Given the description of an element on the screen output the (x, y) to click on. 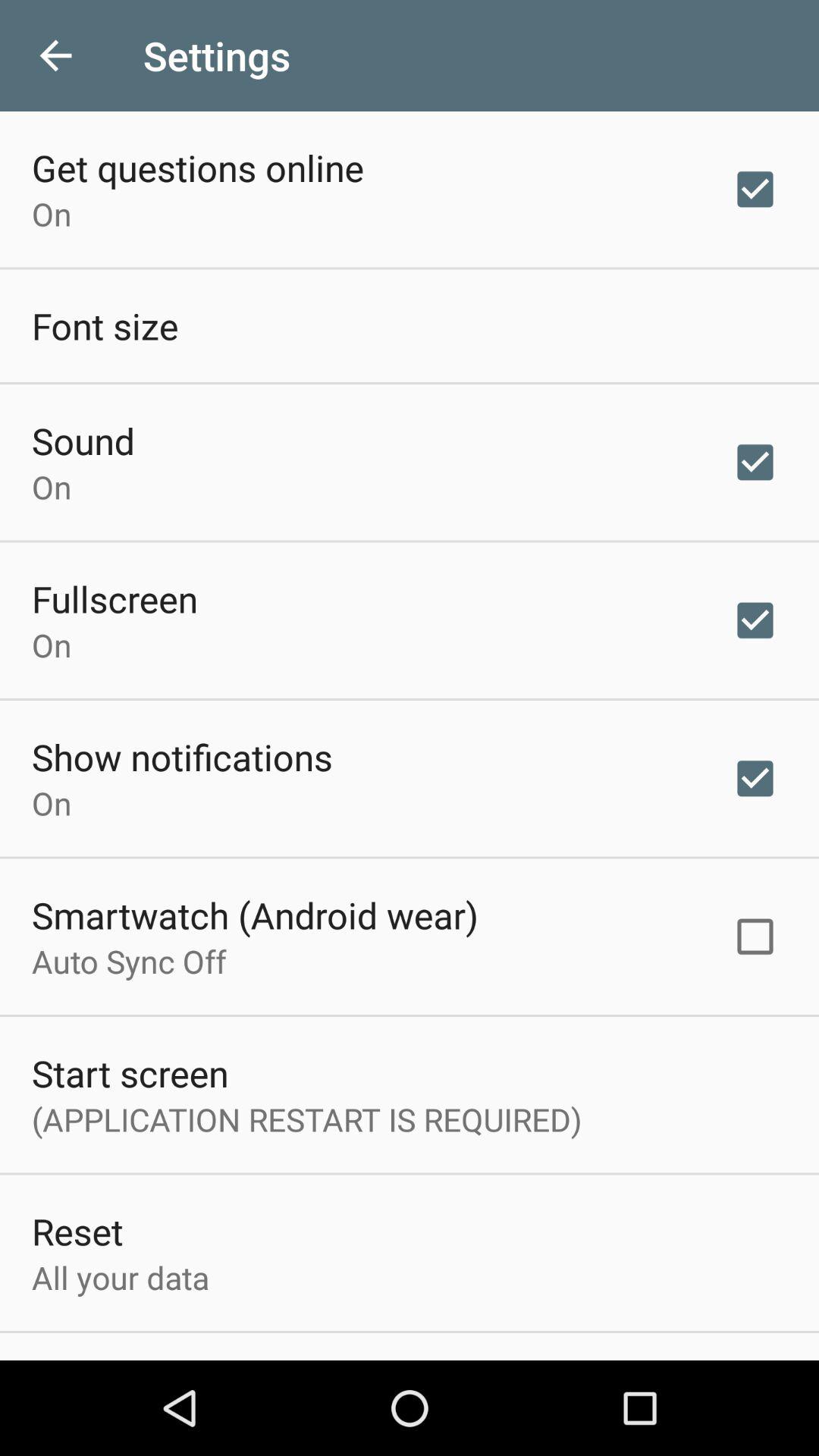
click application restart is item (306, 1118)
